Given the description of an element on the screen output the (x, y) to click on. 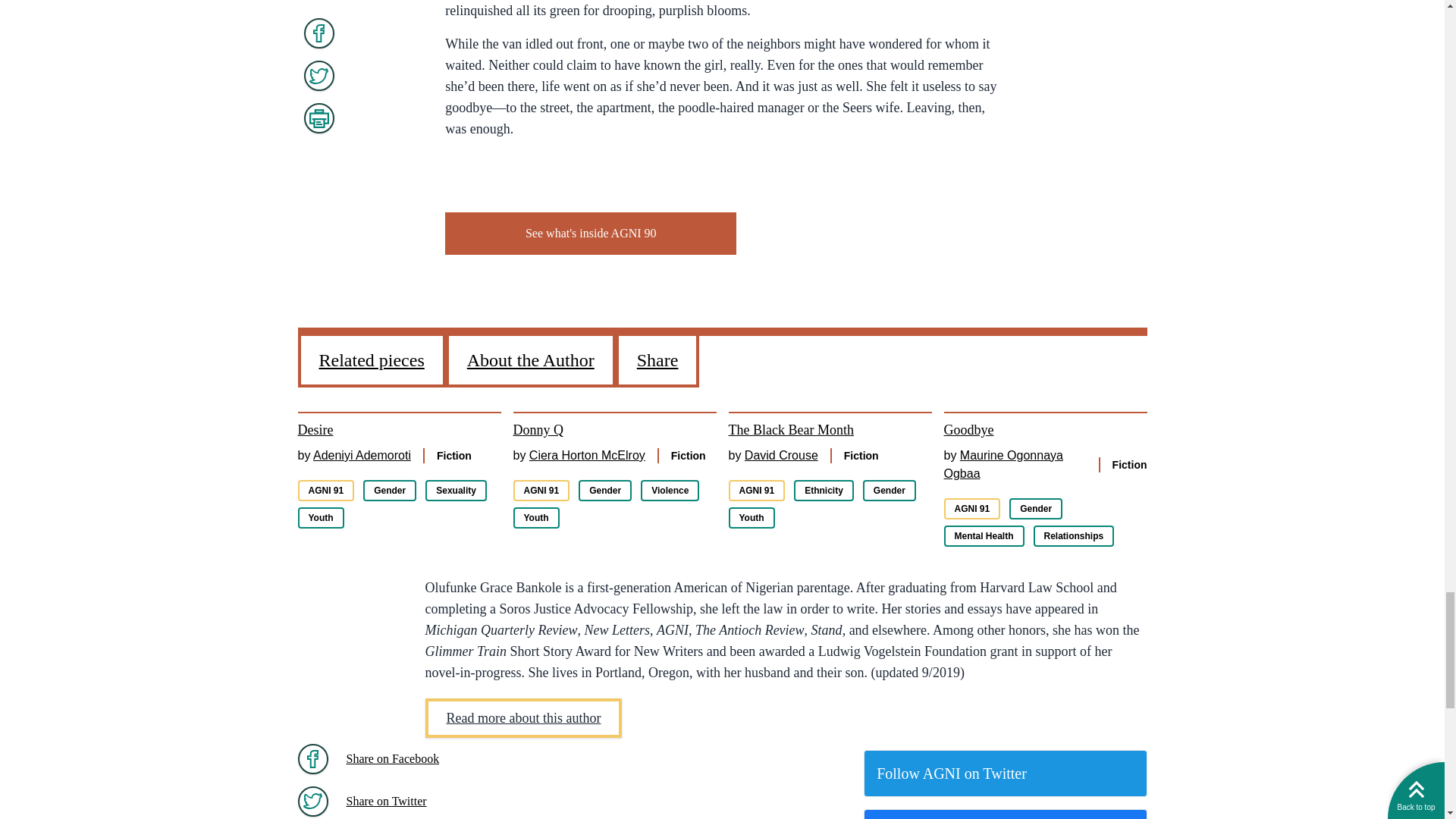
See what's inside AGNI 90 (590, 233)
Share on Twitter (438, 799)
Related pieces (371, 361)
Share on Facebook (438, 758)
About the Author (530, 361)
Share (657, 361)
